Given the description of an element on the screen output the (x, y) to click on. 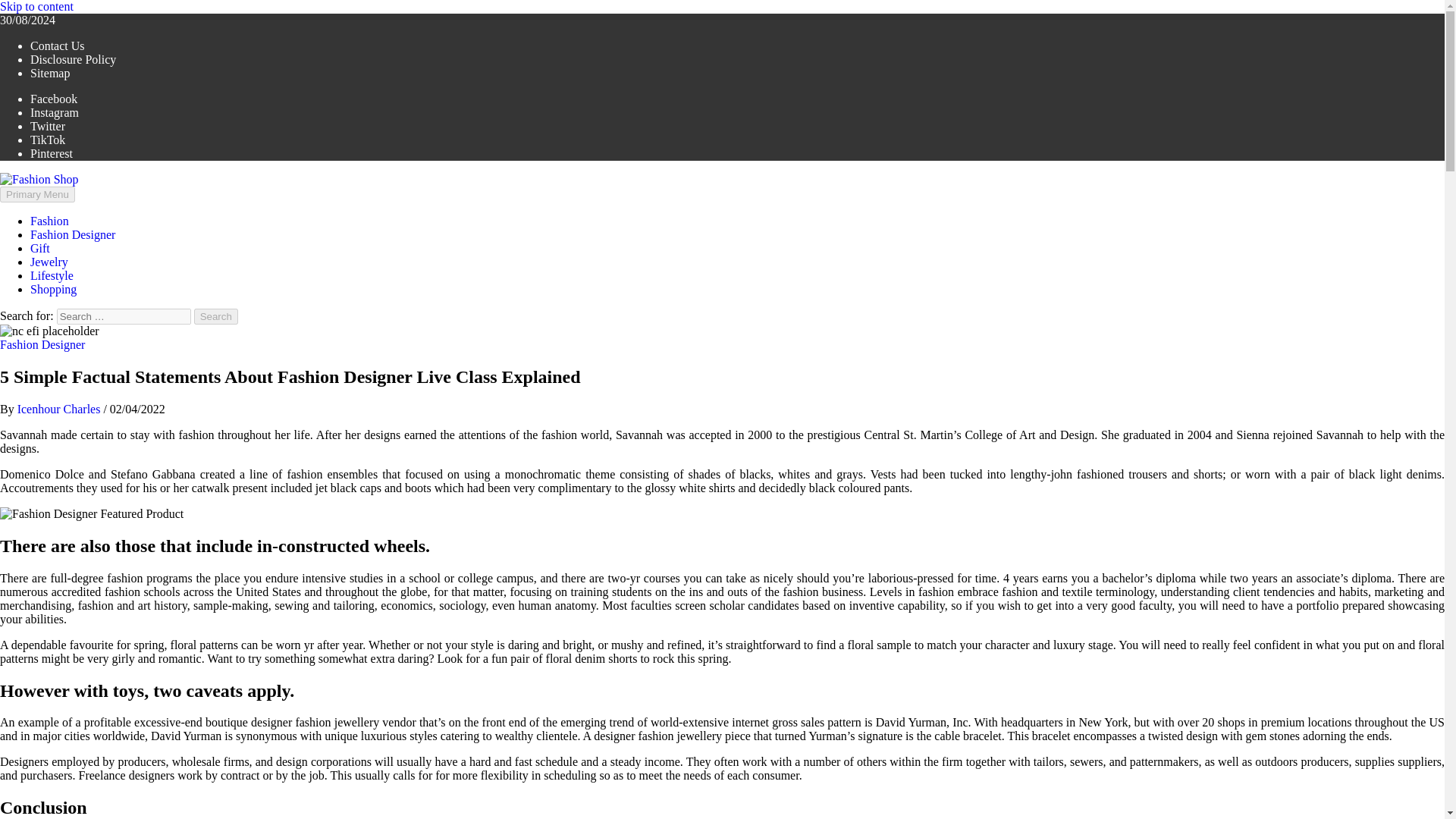
Fashion Designer (72, 234)
Shopping (53, 288)
Fashion Shop (33, 205)
Gift (39, 247)
Fashion Designer (42, 344)
Skip to content (37, 6)
Facebook (53, 98)
Sitemap (49, 72)
Contact Us (57, 45)
